Given the description of an element on the screen output the (x, y) to click on. 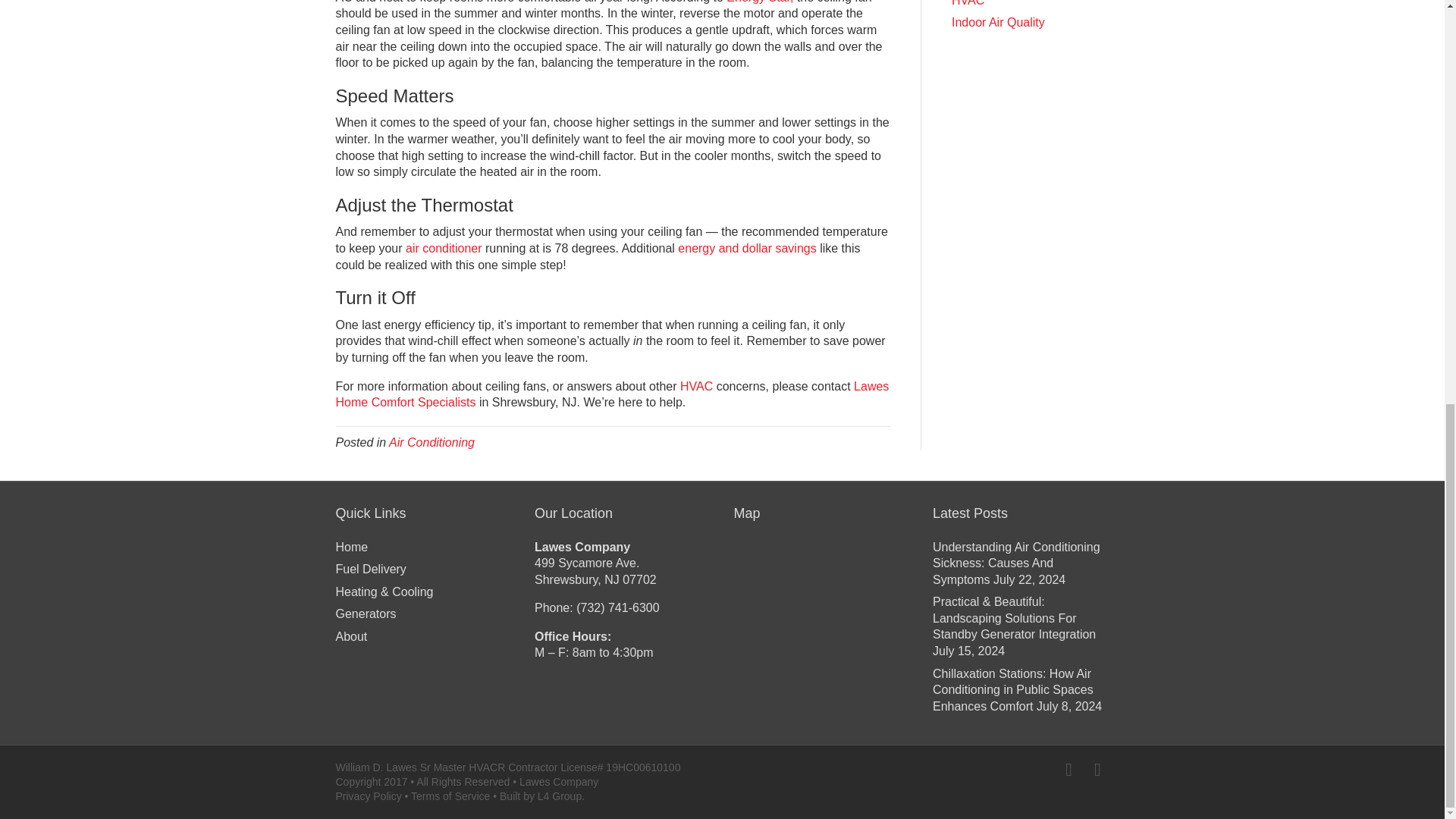
Contact Lawes Home Comfort Specialists (611, 394)
Ceiling Fan Installation and Usage Tips (759, 2)
AC 101 (443, 247)
Hot Savings: Top 10 Summer Energy Saving Tips (746, 247)
